Given the description of an element on the screen output the (x, y) to click on. 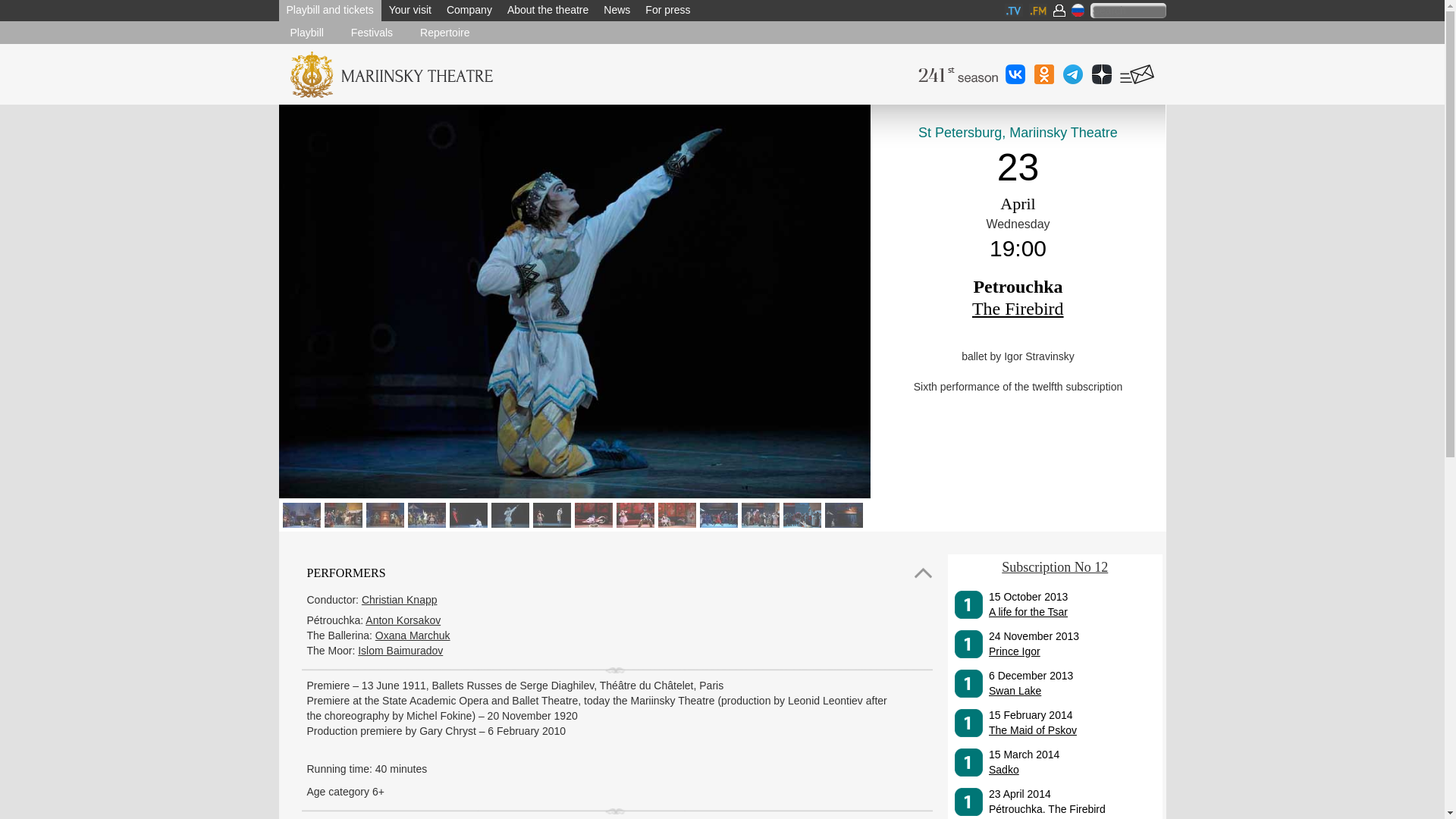
About the theatre (547, 10)
Repertoire (444, 32)
Scene from the ballet (340, 513)
News (616, 10)
Your visit (410, 10)
Company (469, 10)
For press (667, 10)
For press (667, 10)
Anton Korsakov (403, 620)
VKontakte (1015, 73)
Company (469, 10)
Islom Baimuradov (400, 650)
Your visit (410, 10)
Scene from the ballet (299, 513)
